Given the description of an element on the screen output the (x, y) to click on. 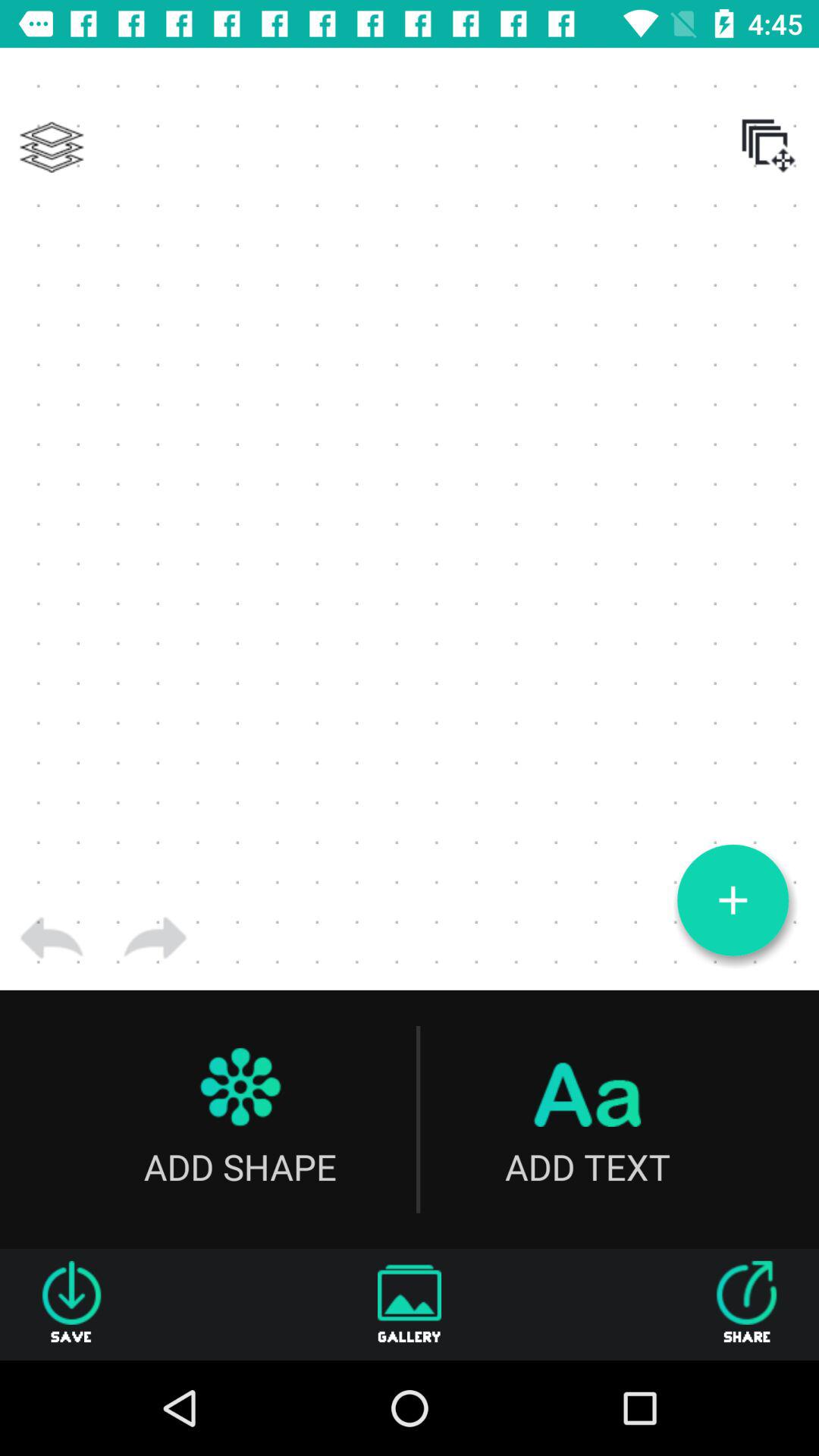
create event (733, 900)
